Given the description of an element on the screen output the (x, y) to click on. 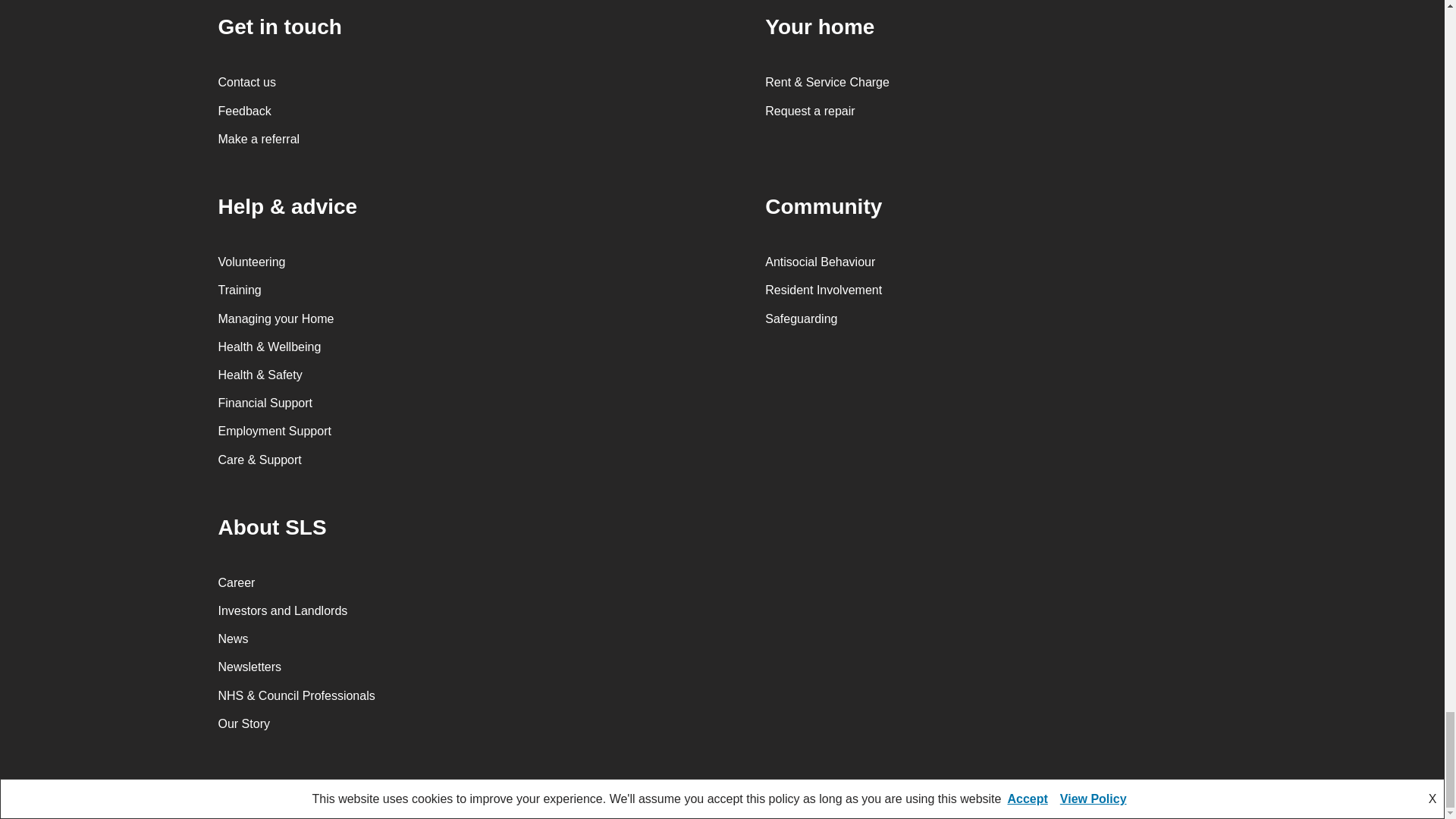
Feedback (244, 110)
Volunteering (251, 261)
Contact us (247, 82)
Financial Support (265, 402)
Managing your Home (276, 318)
Request a repair (809, 110)
Training (240, 289)
Make a referral (258, 138)
Employment Support (274, 431)
